Given the description of an element on the screen output the (x, y) to click on. 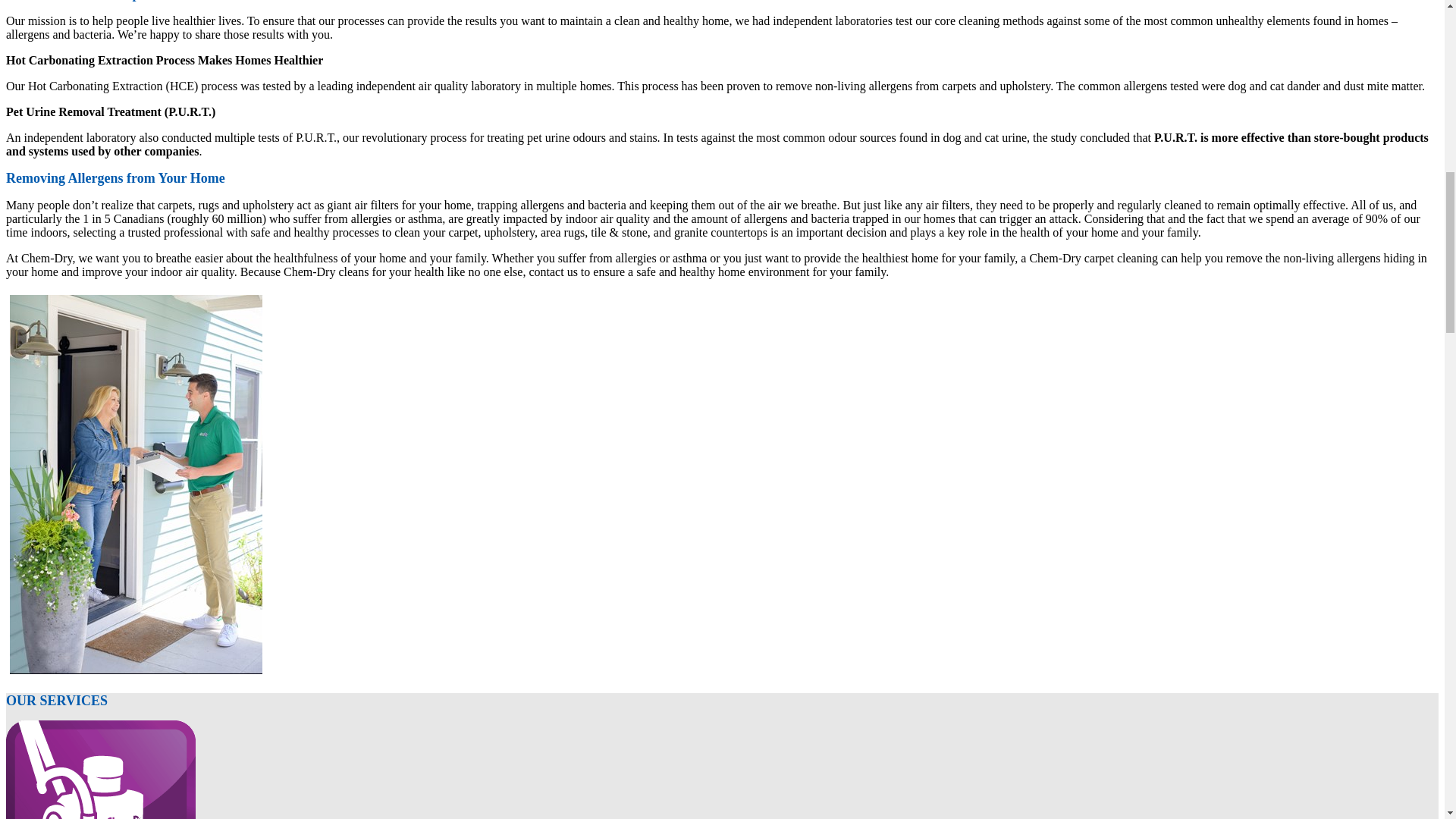
area rug cleaning (100, 769)
